Given the description of an element on the screen output the (x, y) to click on. 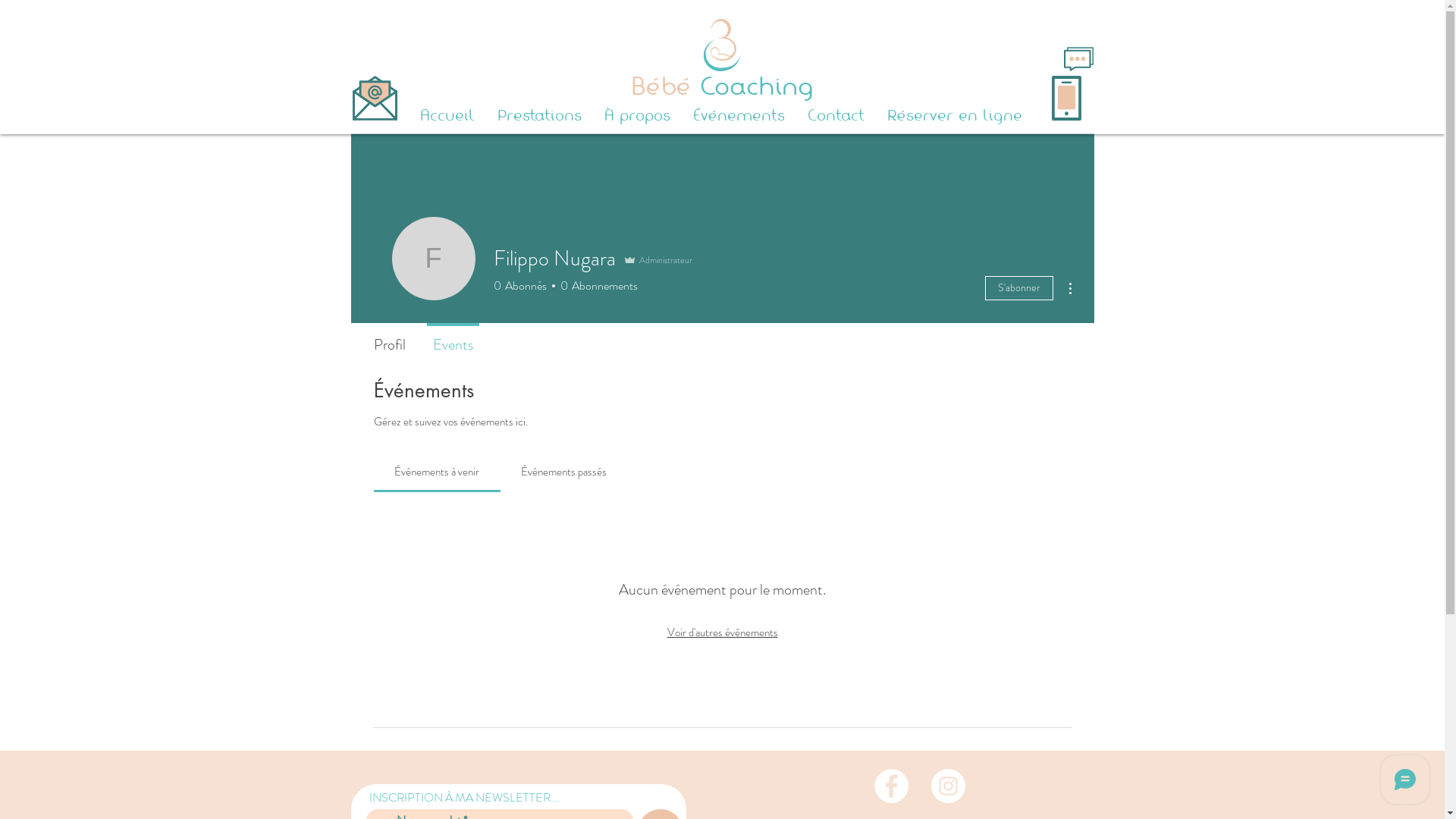
S'abonner Element type: text (1018, 288)
Prestations Element type: text (538, 115)
Contact Element type: text (835, 115)
Accueil Element type: text (446, 115)
Events Element type: text (452, 338)
Profil Element type: text (388, 338)
Coaching Element type: text (752, 86)
0
Abonnements Element type: text (596, 285)
